Given the description of an element on the screen output the (x, y) to click on. 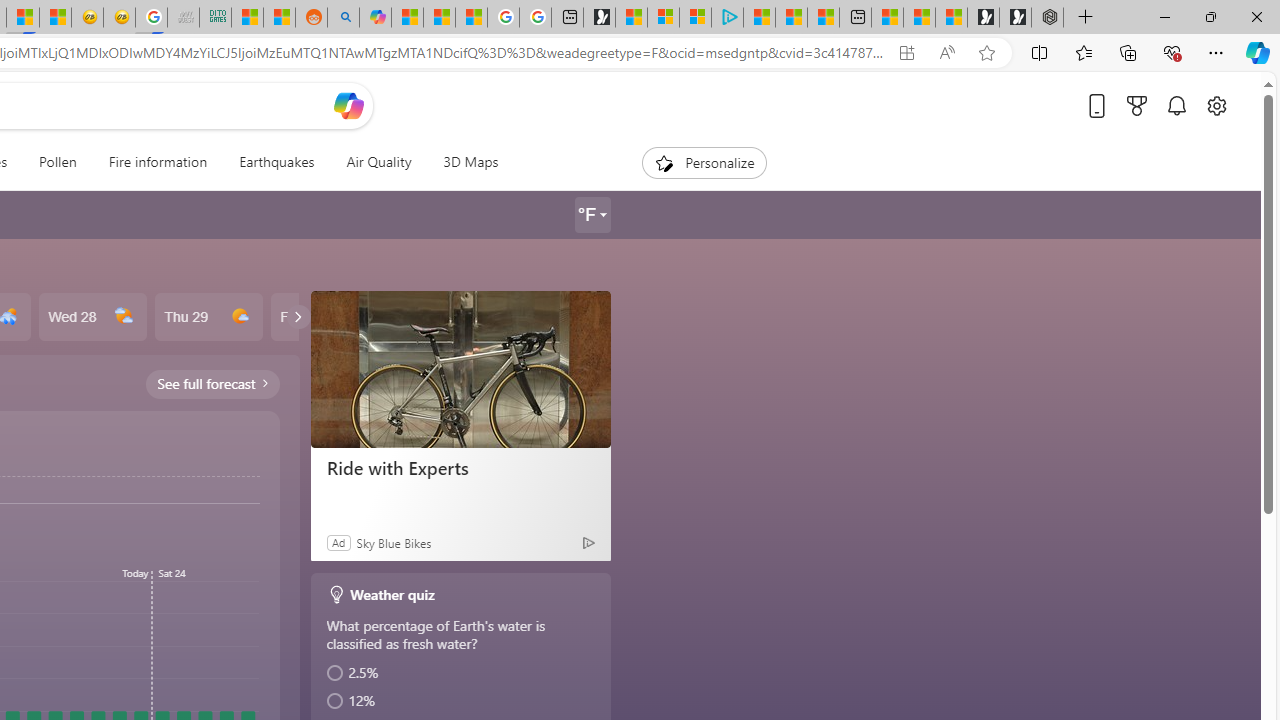
Fire information (157, 162)
Weather settings (591, 215)
3D Maps (470, 162)
Fire information (158, 162)
Thu 29 (207, 317)
Pollen (58, 162)
